Given the description of an element on the screen output the (x, y) to click on. 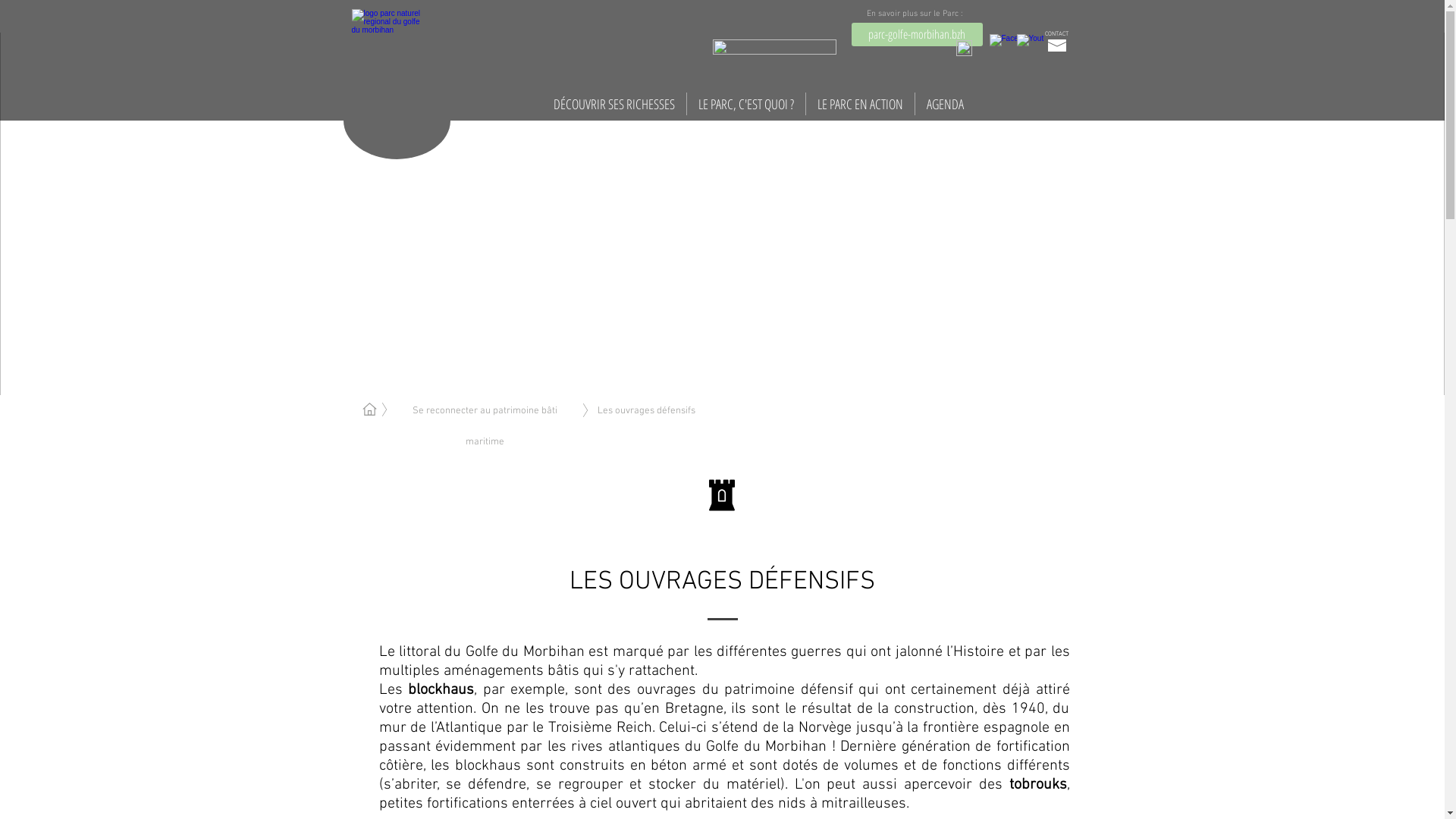
LE PARC EN ACTION Element type: text (859, 103)
parc-golfe-morbihan.bzh Element type: text (916, 34)
LE PARC, C'EST QUOI ? Element type: text (746, 103)
AGENDA Element type: text (944, 103)
